Given the description of an element on the screen output the (x, y) to click on. 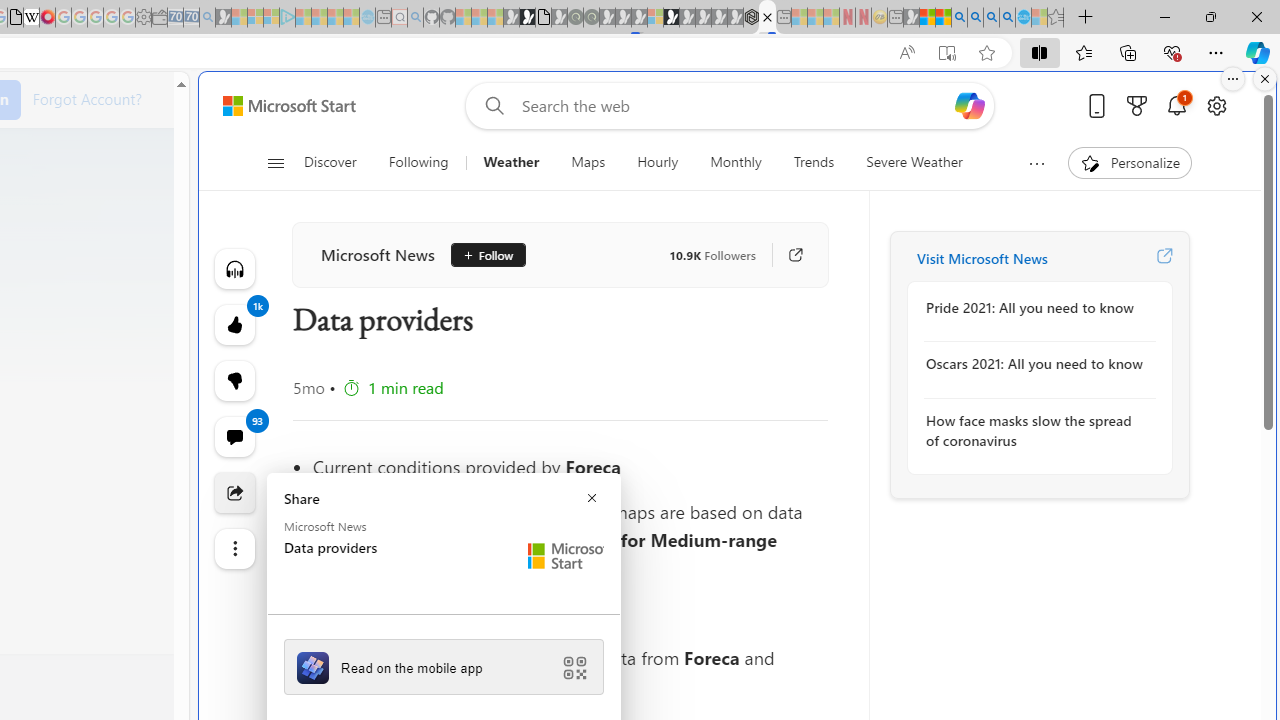
Microsoft Start Logo (565, 555)
Services - Maintenance | Sky Blue Bikes - Sky Blue Bikes (1023, 17)
Read on the mobile app (444, 666)
Monthly (735, 162)
Maps (588, 162)
Current conditions provided by Foreca (570, 466)
